Given the description of an element on the screen output the (x, y) to click on. 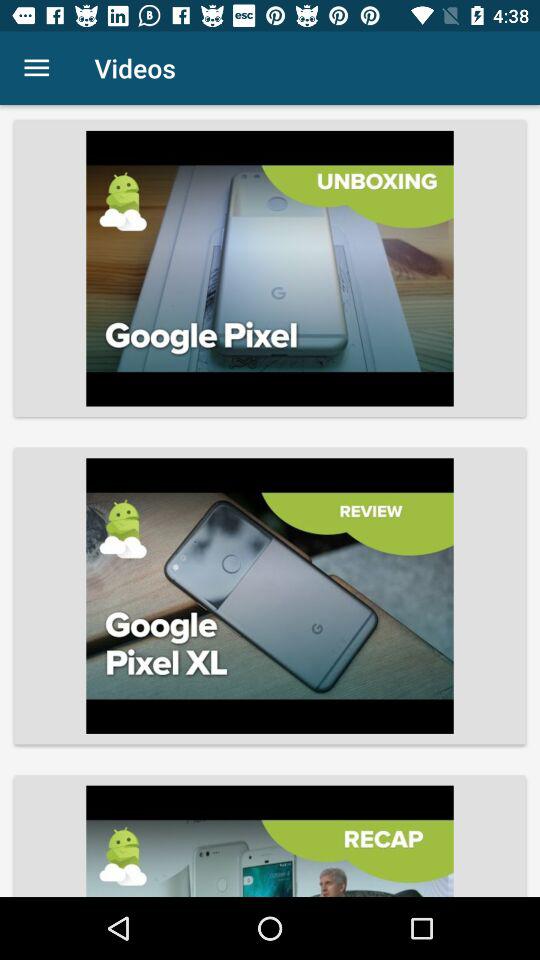
tap the icon to the left of videos item (36, 68)
